Given the description of an element on the screen output the (x, y) to click on. 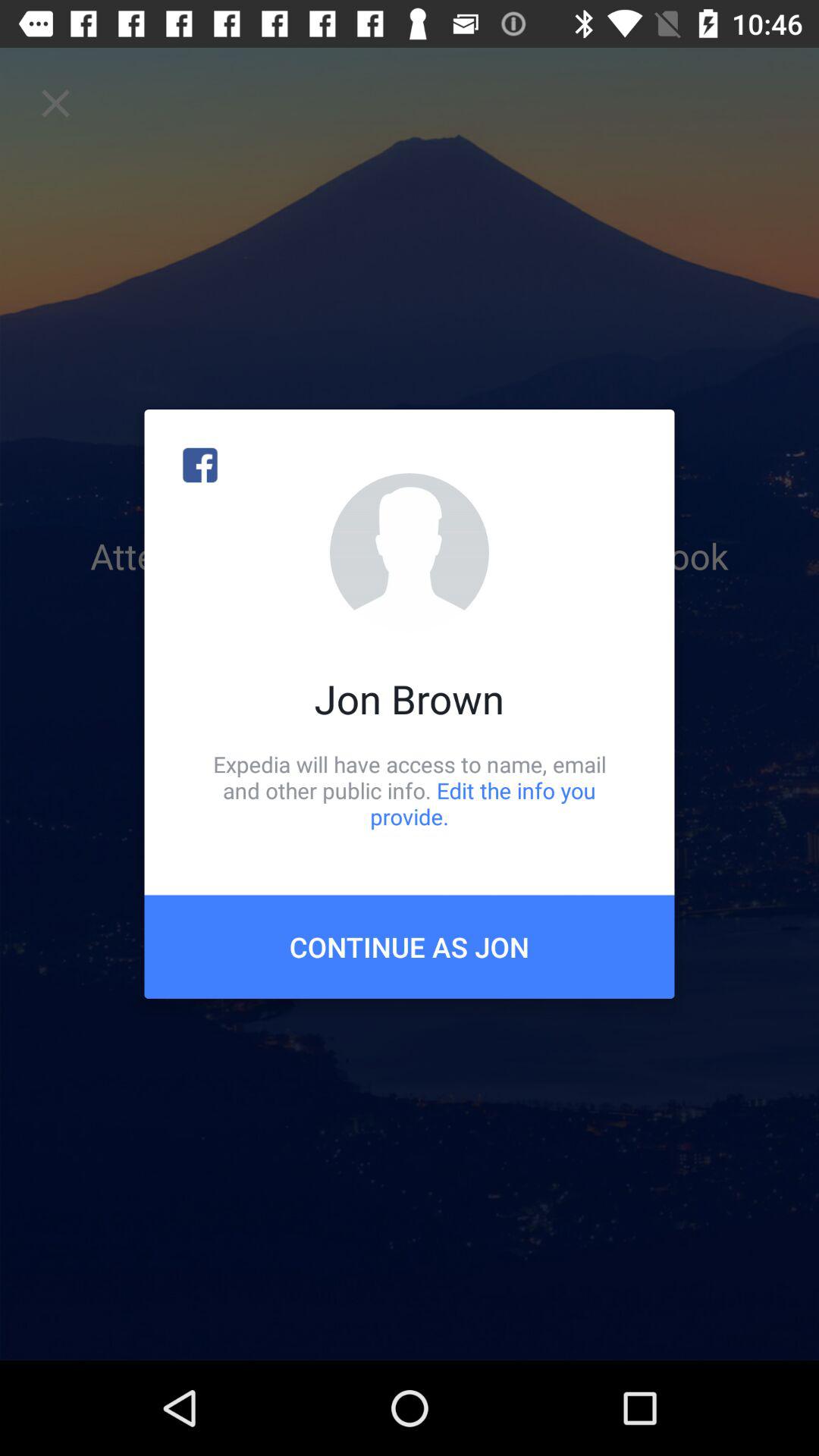
open expedia will have (409, 790)
